Given the description of an element on the screen output the (x, y) to click on. 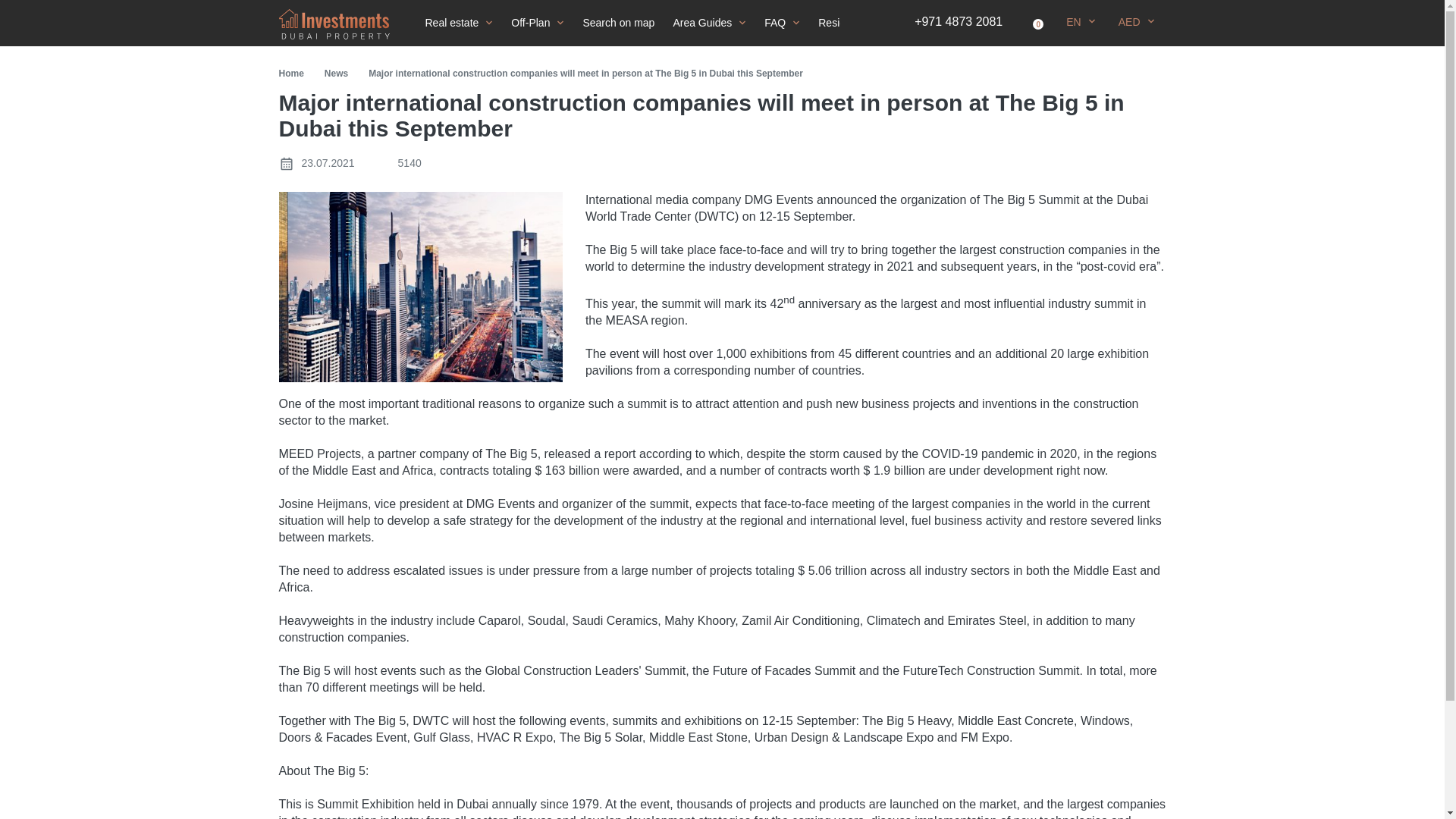
Dubai-Property.Investments (334, 23)
Off-Plan (537, 22)
Search on map (618, 22)
Residence permit (866, 22)
Area Guides (709, 22)
Real estate (458, 22)
FAQ (782, 22)
